Given the description of an element on the screen output the (x, y) to click on. 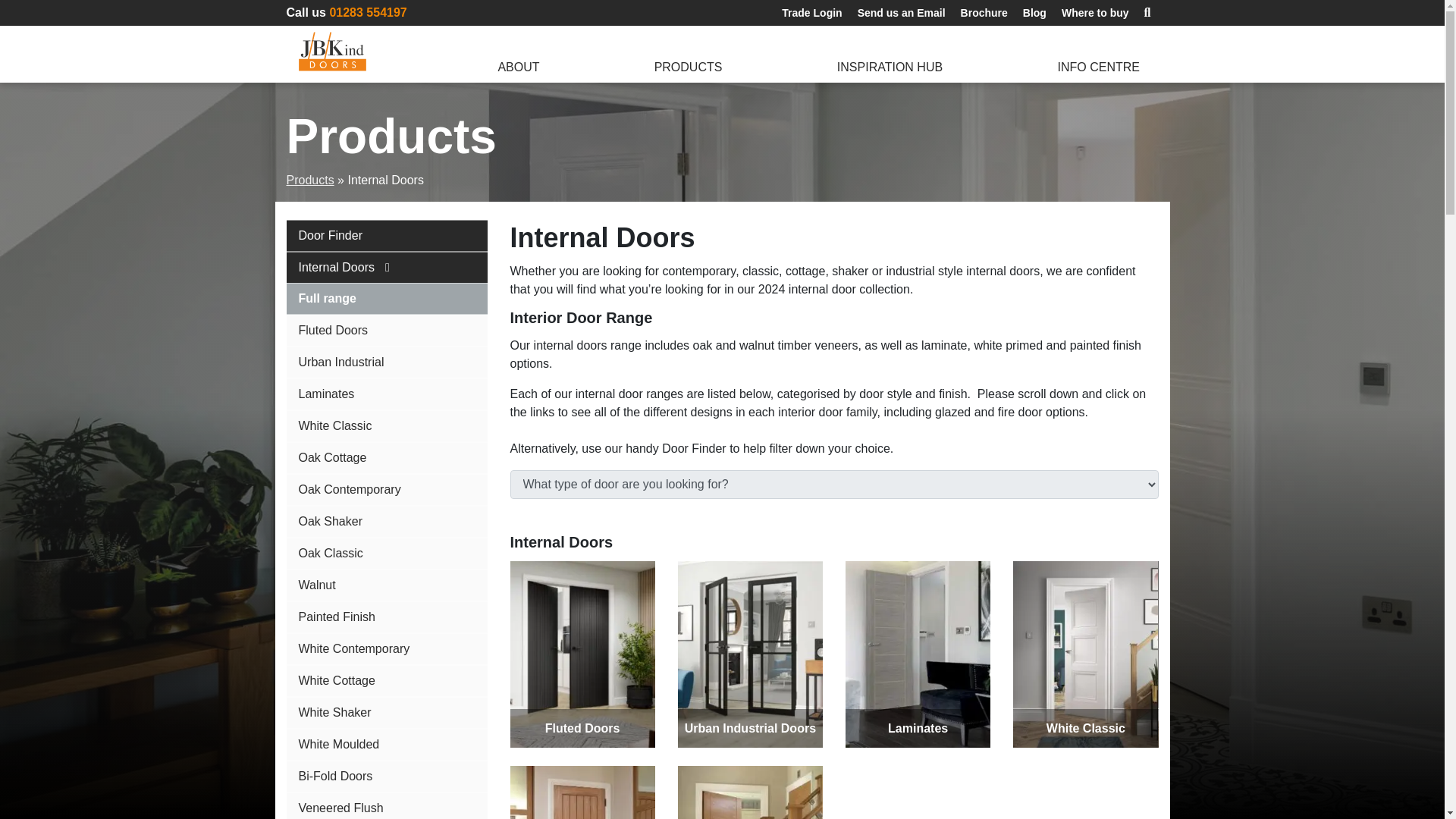
Trade Login (811, 13)
Send us an Email (901, 13)
Brochure (983, 13)
01283 554197 (367, 11)
Blog (1034, 13)
Where to buy (1095, 13)
